Given the description of an element on the screen output the (x, y) to click on. 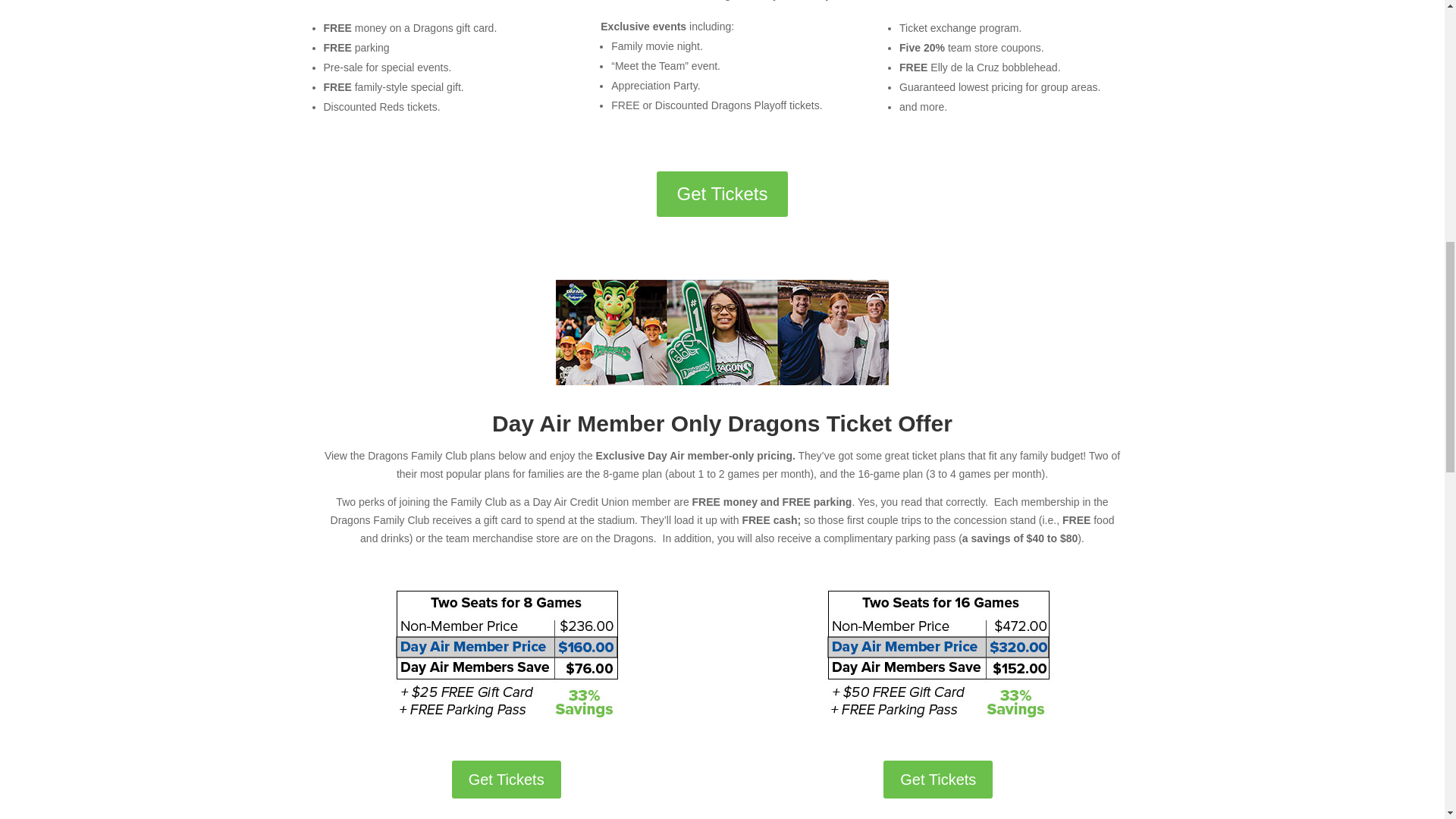
2-Seats-16-Games (937, 661)
Get Tickets (937, 779)
Get Tickets (721, 193)
Get Tickets (505, 779)
